Given the description of an element on the screen output the (x, y) to click on. 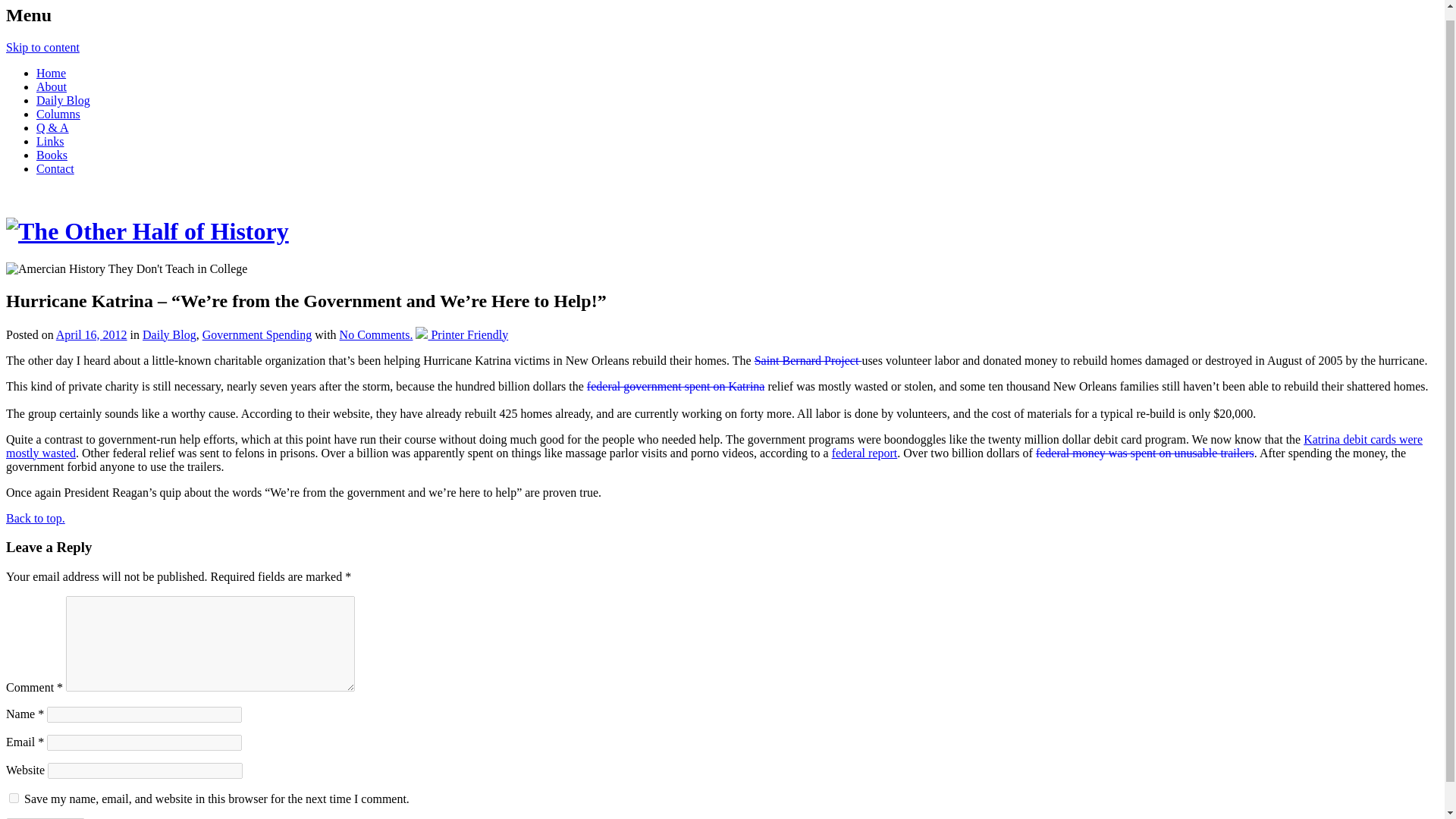
No Comments. (376, 334)
Printer Friendly (461, 334)
federal report (864, 452)
yes (13, 798)
Skip to content (42, 47)
federal money was spent on unusable trailers (1144, 452)
Katrina debit cards were mostly wasted (713, 446)
Daily Blog (63, 100)
Links (50, 141)
Daily Blog (169, 334)
